Given the description of an element on the screen output the (x, y) to click on. 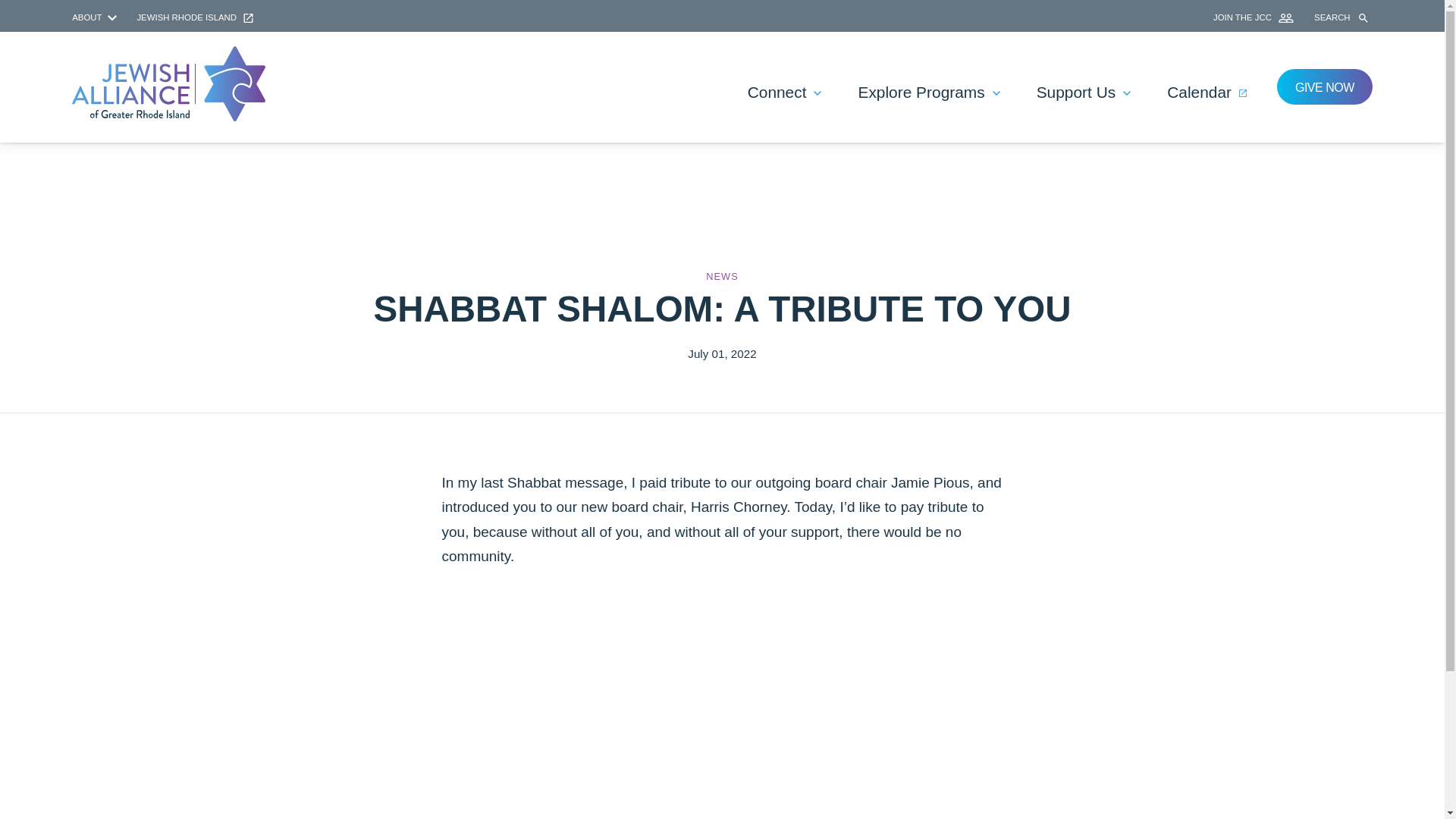
ABOUT (95, 17)
JEWISH RHODE ISLAND (194, 17)
Connect (784, 92)
JOIN THE JCC (1254, 17)
Shabbat Message July 1 2022.mp4 (722, 703)
SEARCH (1343, 18)
